Given the description of an element on the screen output the (x, y) to click on. 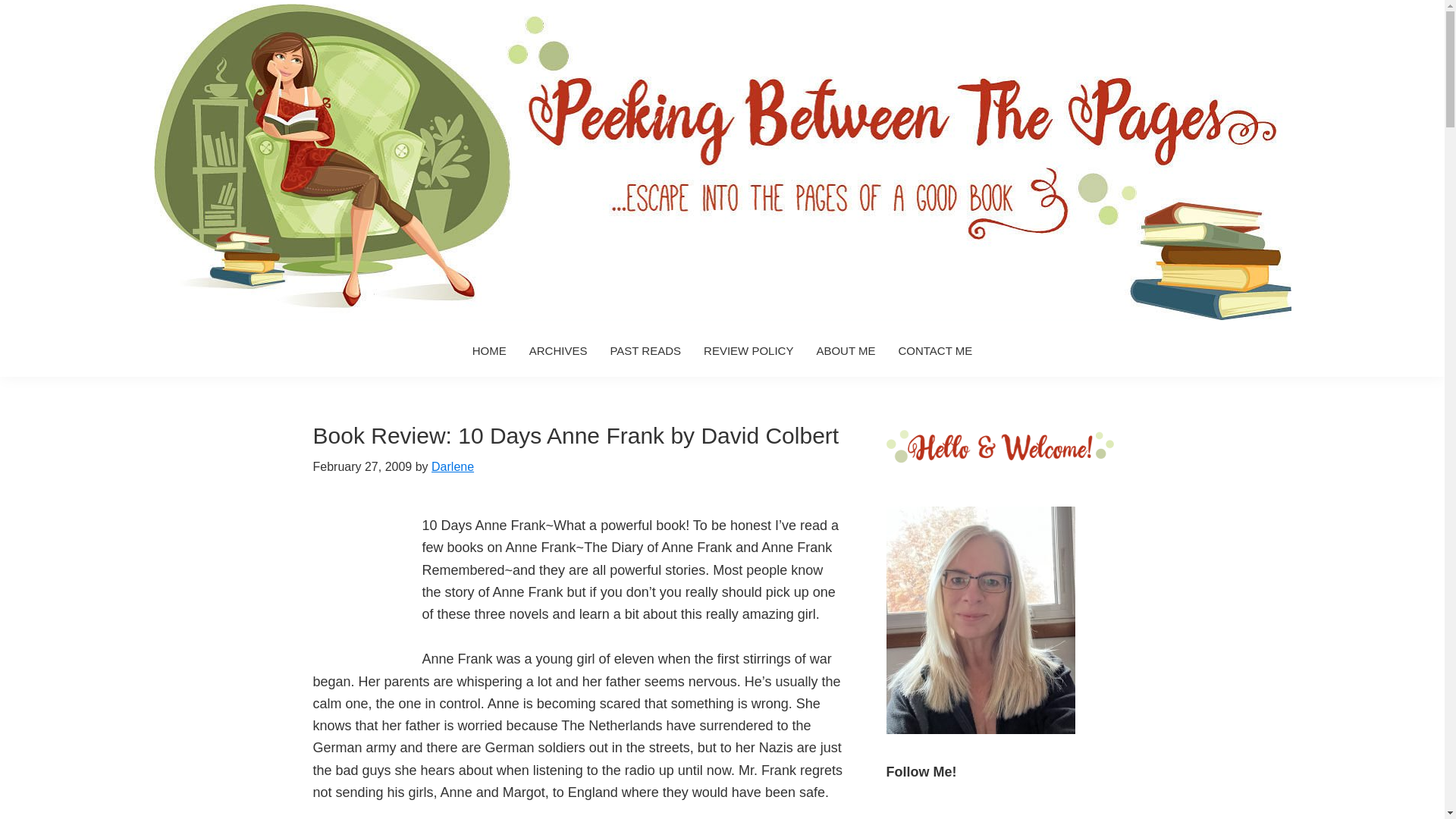
ABOUT ME (845, 350)
REVIEW POLICY (749, 350)
CONTACT ME (935, 350)
Darlene (452, 466)
ARCHIVES (558, 350)
PAST READS (645, 350)
HOME (489, 350)
